Given the description of an element on the screen output the (x, y) to click on. 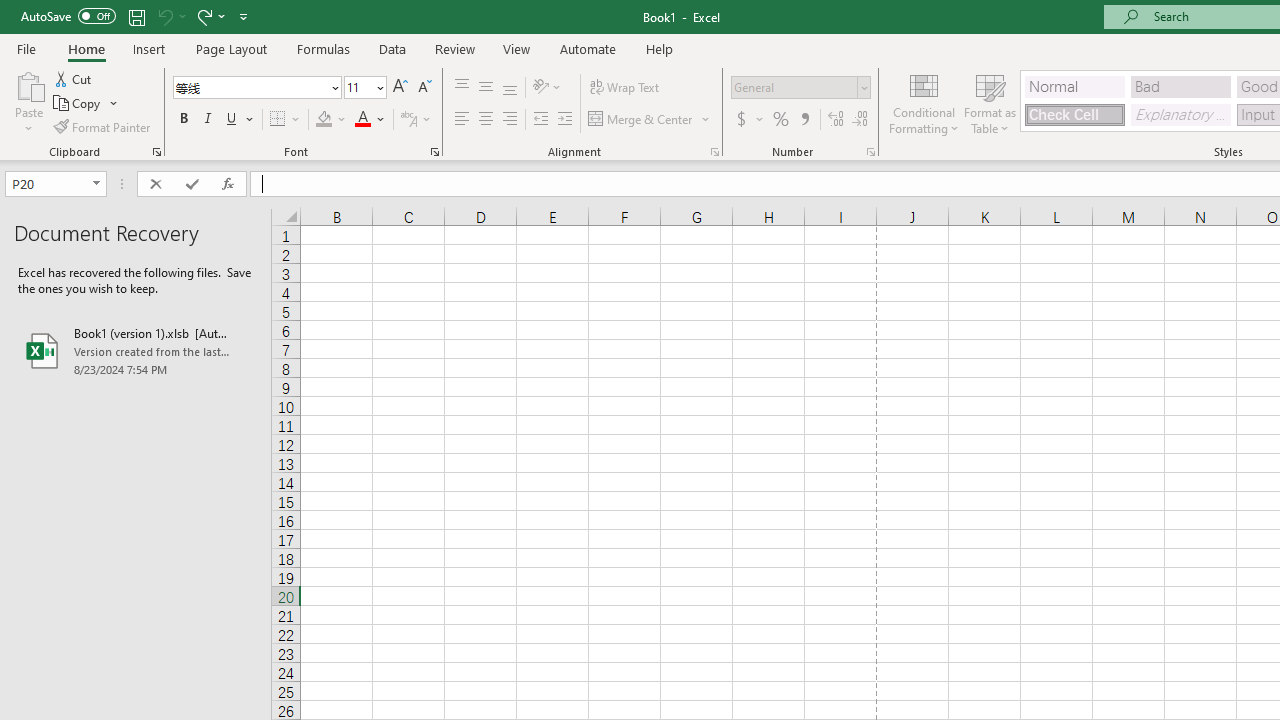
Font Size (365, 87)
Fill Color (331, 119)
Merge & Center (649, 119)
Font (250, 87)
Format Painter (103, 126)
Accounting Number Format (741, 119)
Format Cell Alignment (714, 151)
Decrease Decimal (859, 119)
Explanatory Text (1180, 114)
Font Color (370, 119)
